Given the description of an element on the screen output the (x, y) to click on. 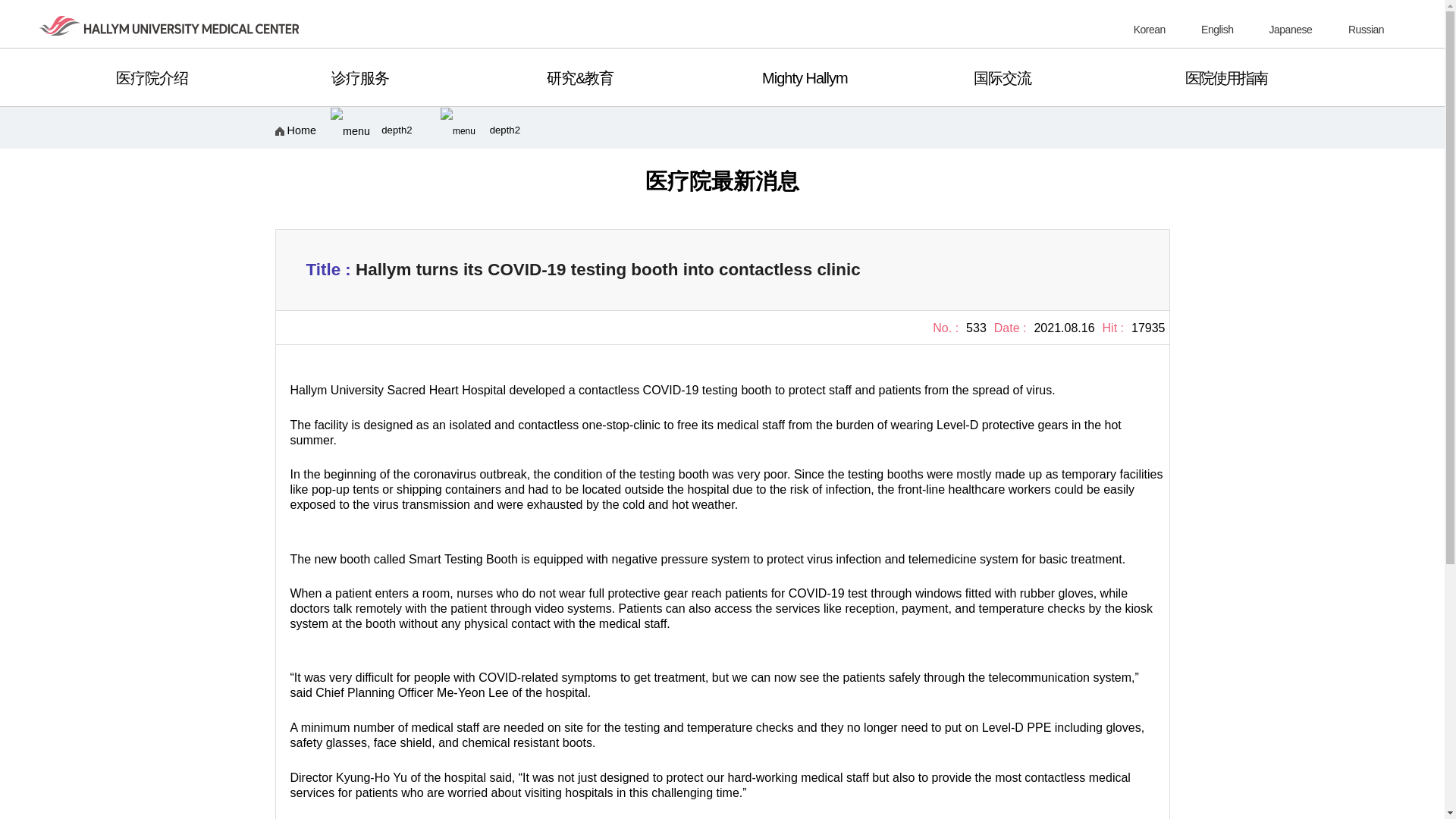
blank (1291, 29)
English (1216, 29)
blank (1149, 29)
blank (1365, 29)
Japanese (1291, 29)
blank (1216, 29)
Korean (1149, 29)
